Given the description of an element on the screen output the (x, y) to click on. 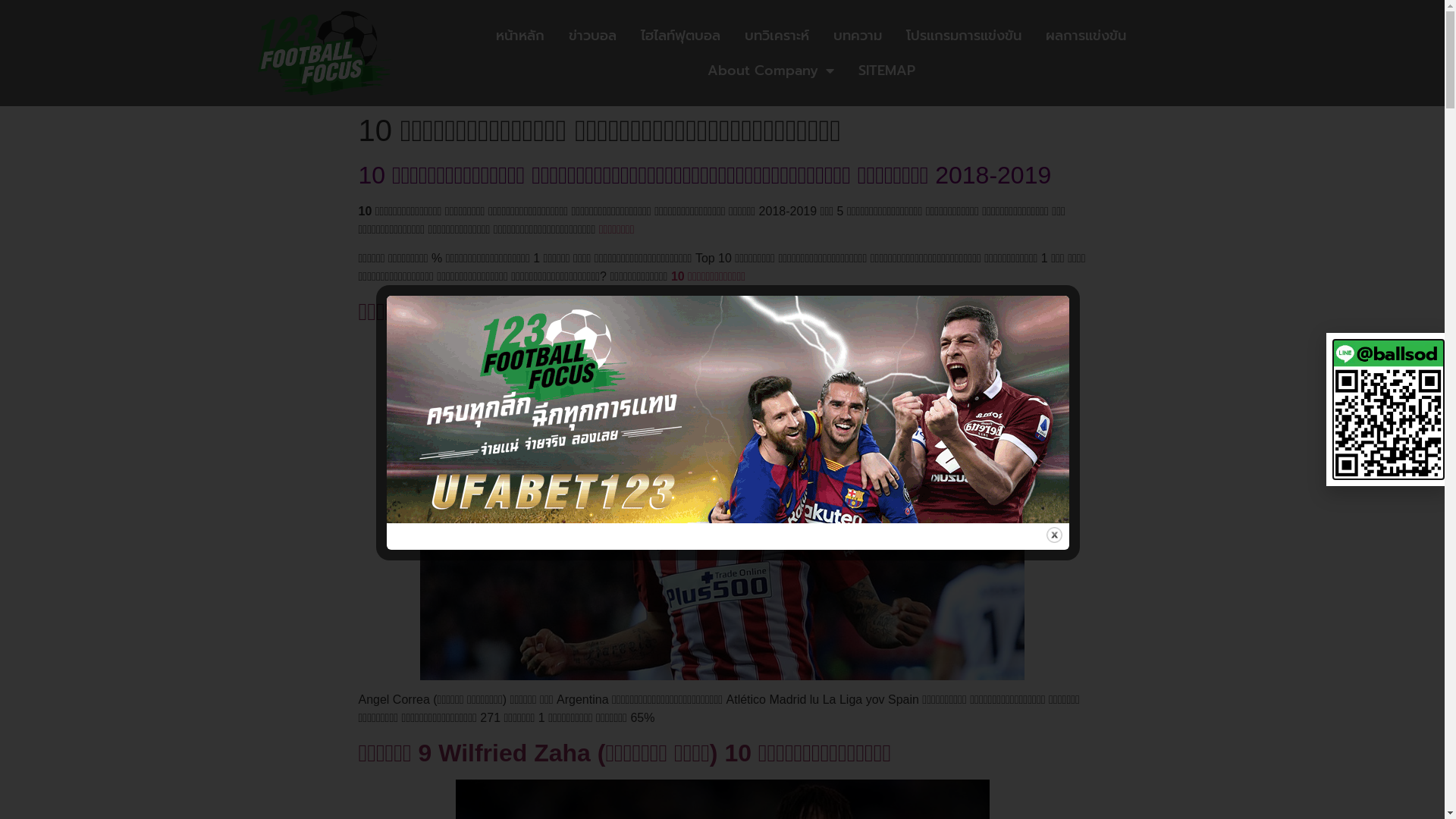
SITEMAP Element type: text (886, 70)
About Company Element type: text (770, 70)
Close Element type: hover (1054, 534)
